Given the description of an element on the screen output the (x, y) to click on. 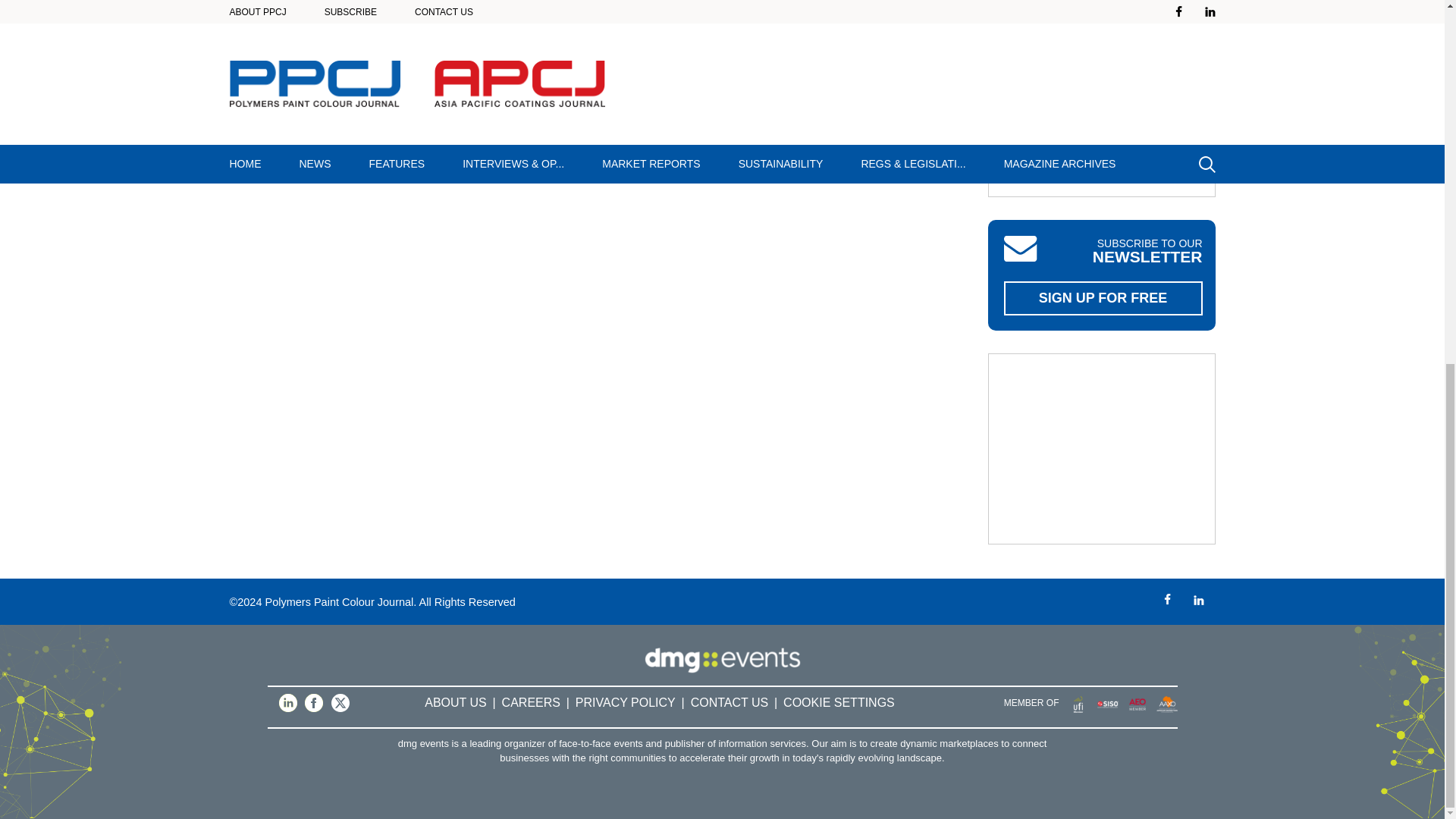
Hexion and Clariant forge strategic collaboration (308, 12)
Leadership changes at AkzoNobel (753, 92)
3rd party ad content (1101, 448)
3rd party ad content (1101, 98)
